Given the description of an element on the screen output the (x, y) to click on. 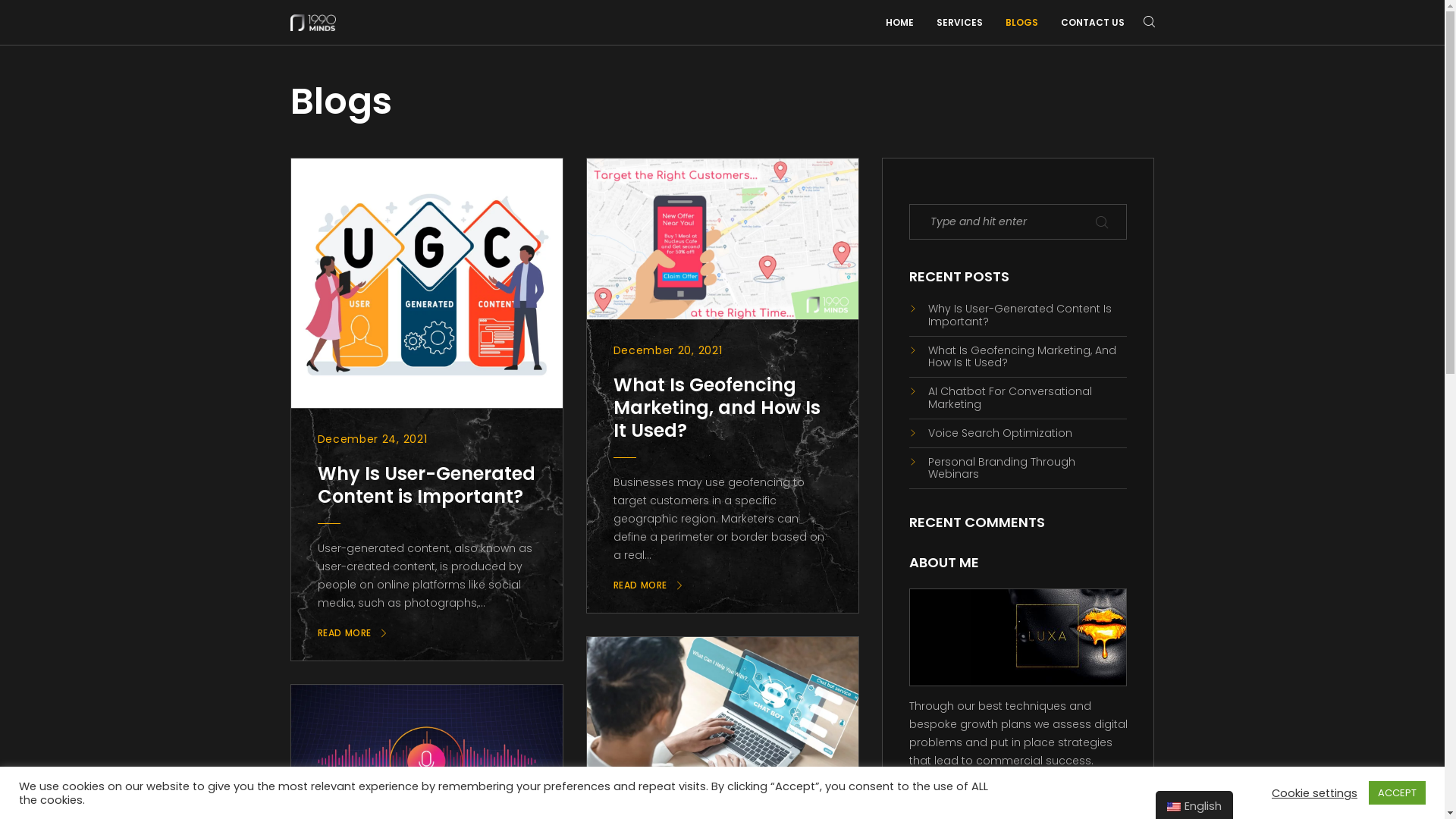
Personal Branding Through Webinars Element type: text (1017, 468)
READ MORE Element type: text (648, 584)
Voice Search Optimization Element type: text (1017, 432)
SERVICES Element type: text (958, 22)
AI Chatbot For Conversational Marketing Element type: text (1017, 398)
Why Is User-Generated Content is Important? Element type: text (425, 484)
HOME Element type: text (899, 22)
What Is Geofencing Marketing, And How Is It Used? Element type: text (1017, 357)
Why Is User-Generated Content Is Important? Element type: text (1017, 315)
CONTACT US Element type: text (1091, 22)
ACCEPT Element type: text (1396, 792)
READ MORE Element type: text (352, 632)
What Is Geofencing Marketing, and How Is It Used? Element type: text (715, 407)
Cookie settings Element type: text (1314, 792)
English Element type: hover (1173, 806)
BLOGS Element type: text (1021, 22)
